Given the description of an element on the screen output the (x, y) to click on. 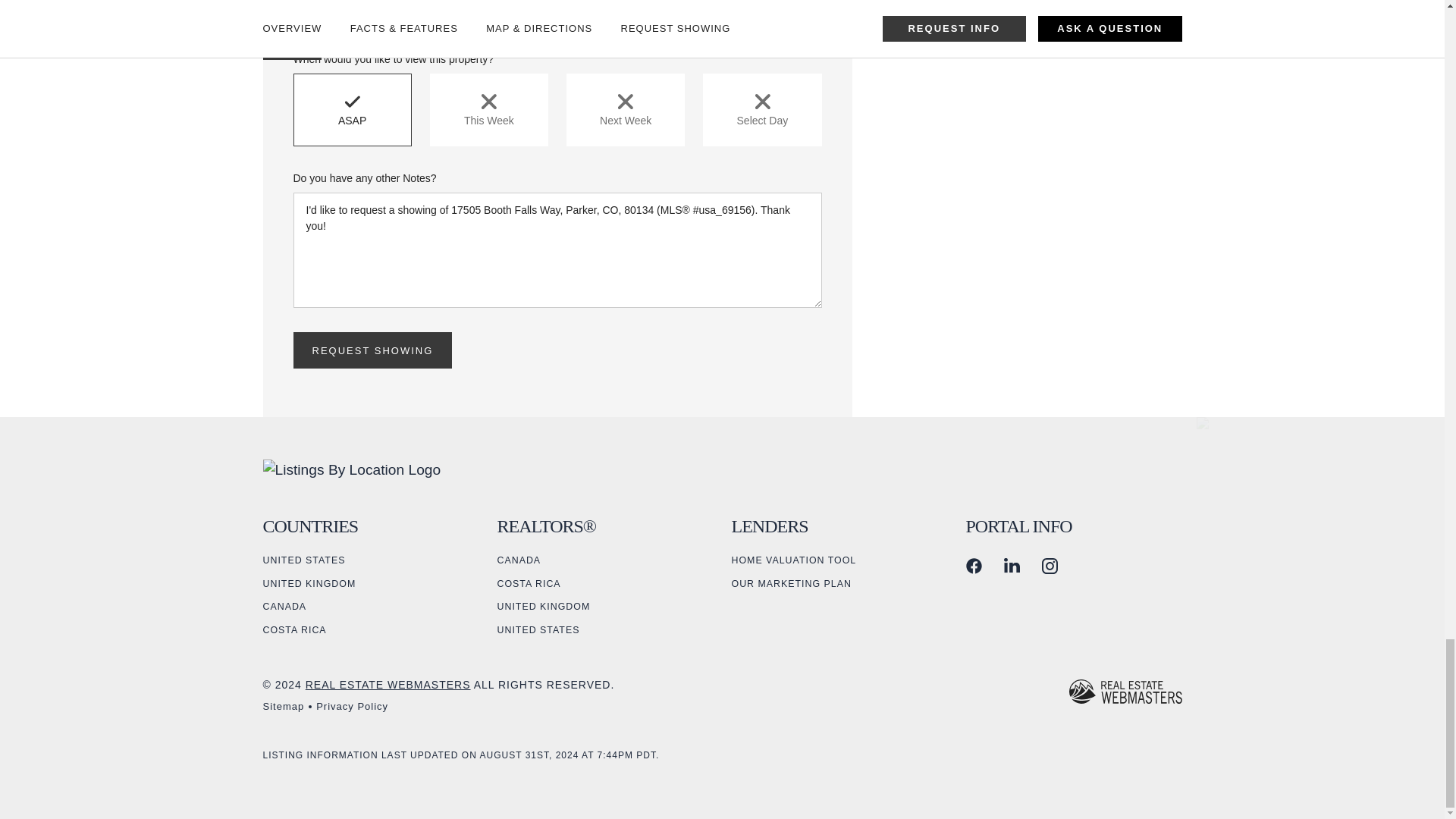
This Week (488, 109)
Next Week (625, 109)
ASAP (351, 109)
LINKEDIN (1012, 565)
LOS ANGELES REAL ESTATE FACEBOOK PAGE (973, 565)
